Given the description of an element on the screen output the (x, y) to click on. 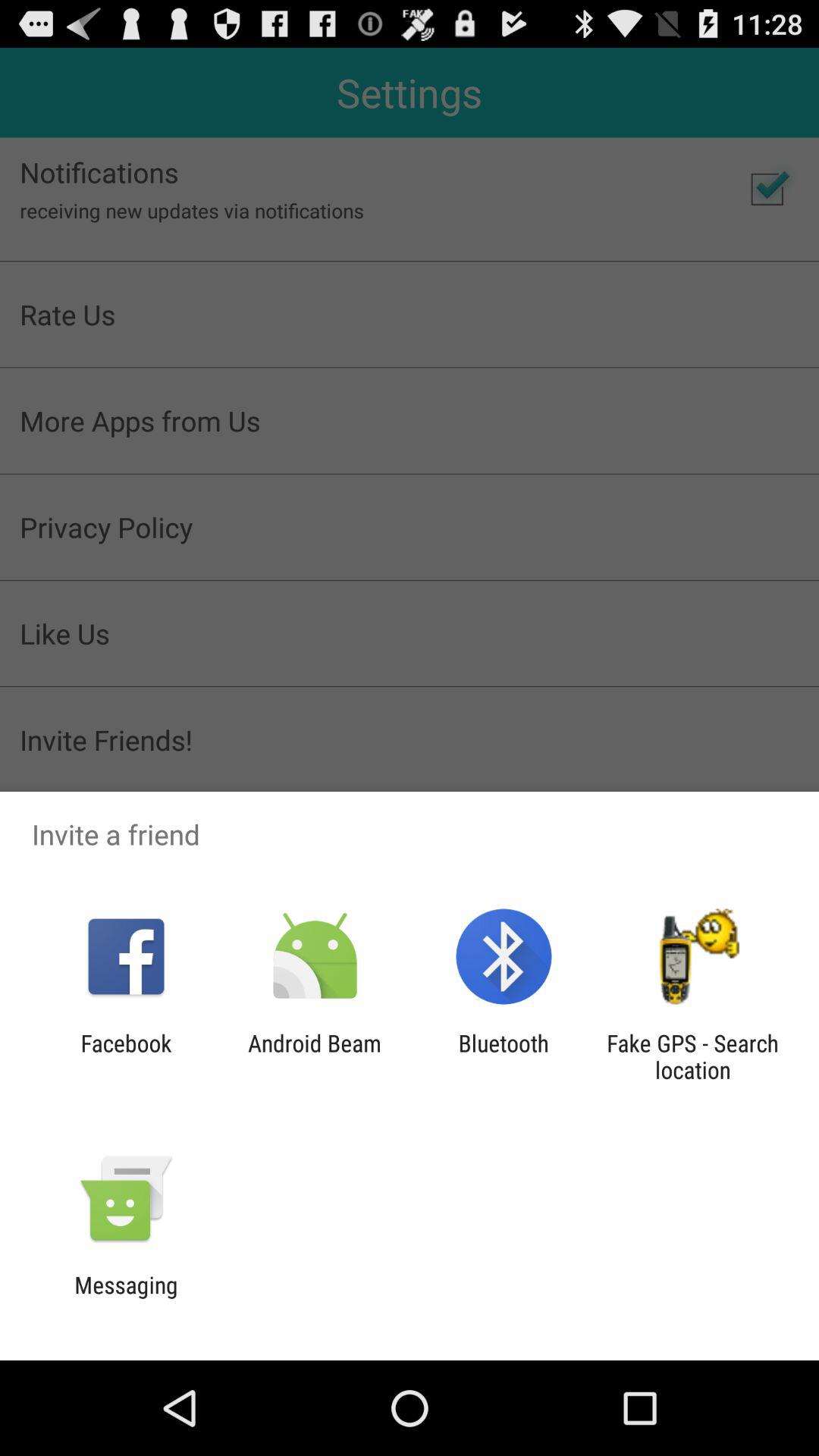
select item next to the fake gps search (503, 1056)
